Given the description of an element on the screen output the (x, y) to click on. 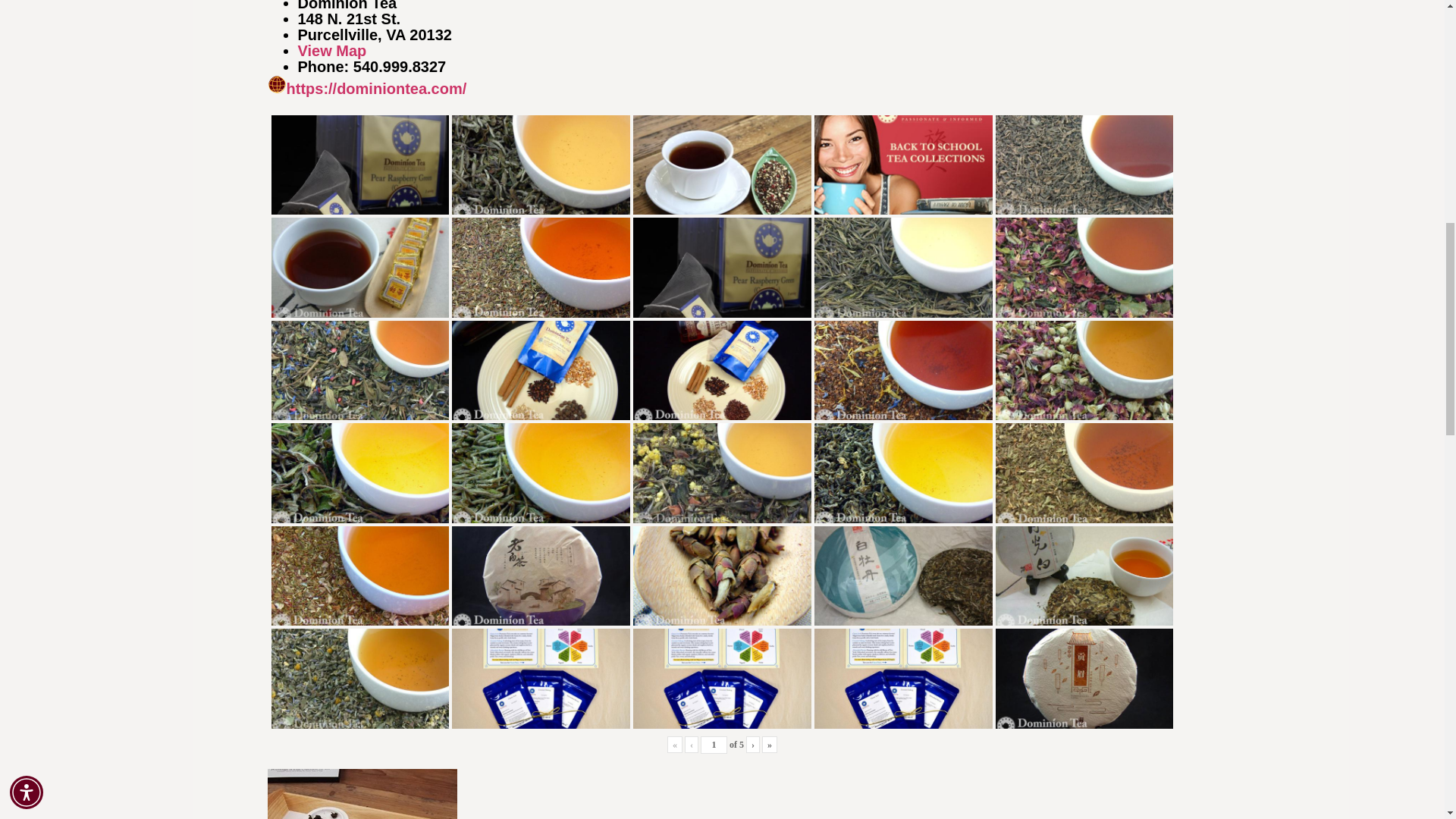
1 (713, 744)
Guilt Free Collection (902, 164)
Green Rooibos (540, 267)
Tea Sachets (721, 267)
Himalayan White (540, 164)
Tropical Spice Cake (721, 164)
White Tapestry (1084, 267)
Golden Fortune Puerh Tuo Cha (359, 267)
Hazelnut Puerh (1084, 164)
Huo Shan Huang Ya (902, 267)
